Given the description of an element on the screen output the (x, y) to click on. 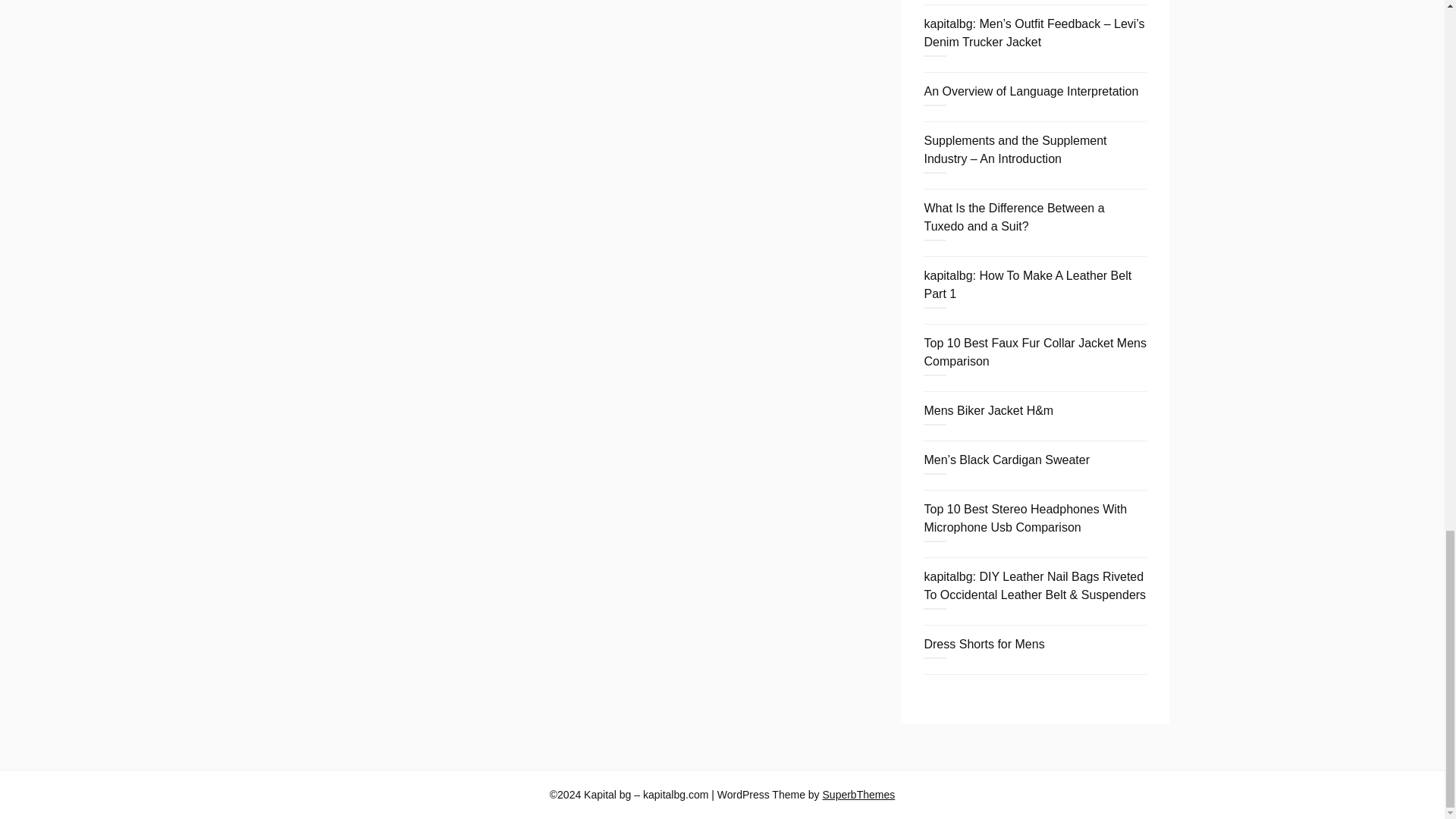
kapitalbg: How To Make A Leather Belt Part 1 (1027, 284)
Top 10 Best Faux Fur Collar Jacket Mens Comparison (1034, 351)
What Is the Difference Between a Tuxedo and a Suit? (1013, 216)
Top 10 Best Stereo Headphones With Microphone Usb Comparison (1024, 517)
An Overview of Language Interpretation (1030, 91)
